Given the description of an element on the screen output the (x, y) to click on. 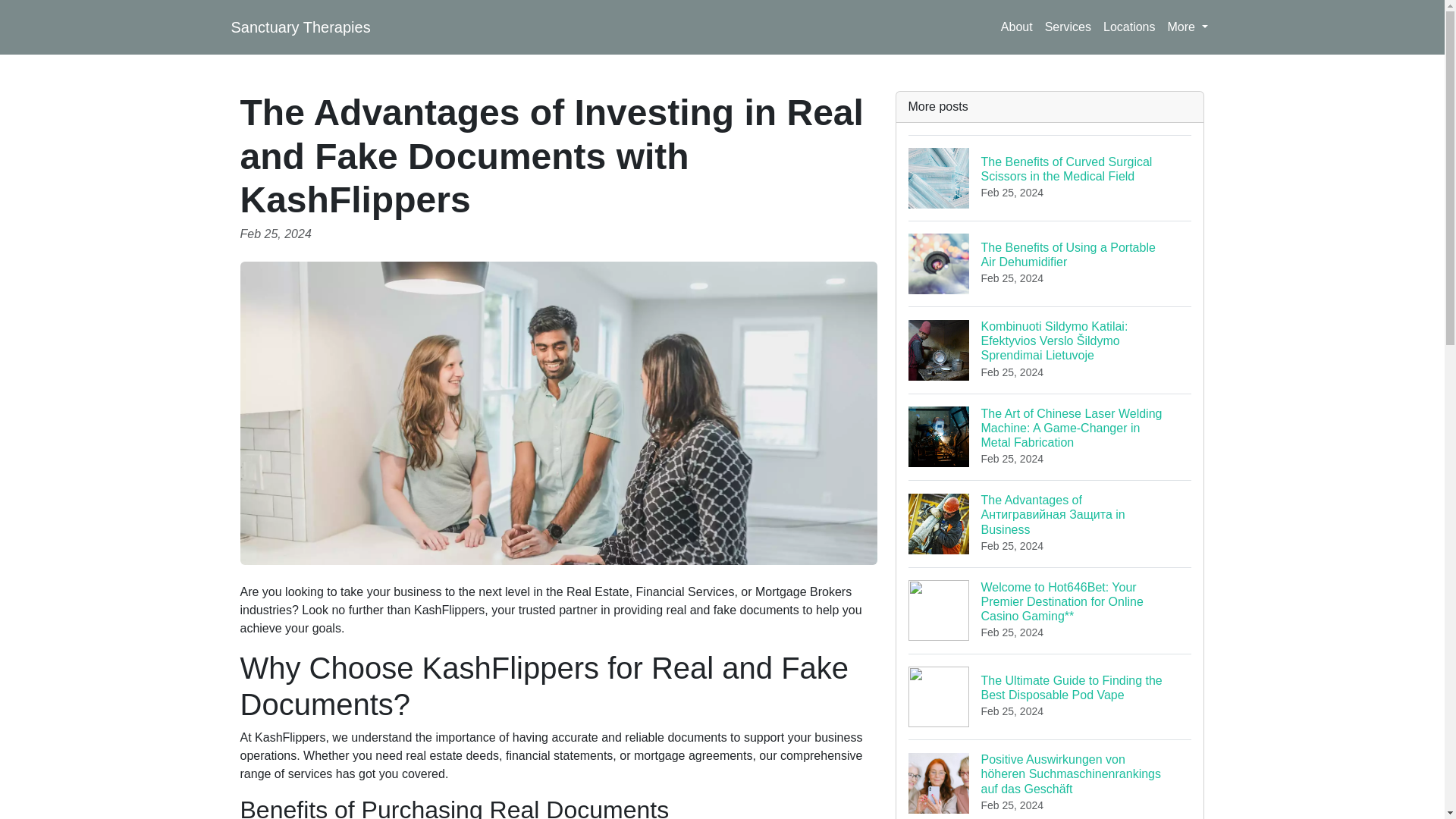
About (1016, 27)
Sanctuary Therapies (299, 27)
More (1187, 27)
Services (1068, 27)
Locations (1129, 27)
